Given the description of an element on the screen output the (x, y) to click on. 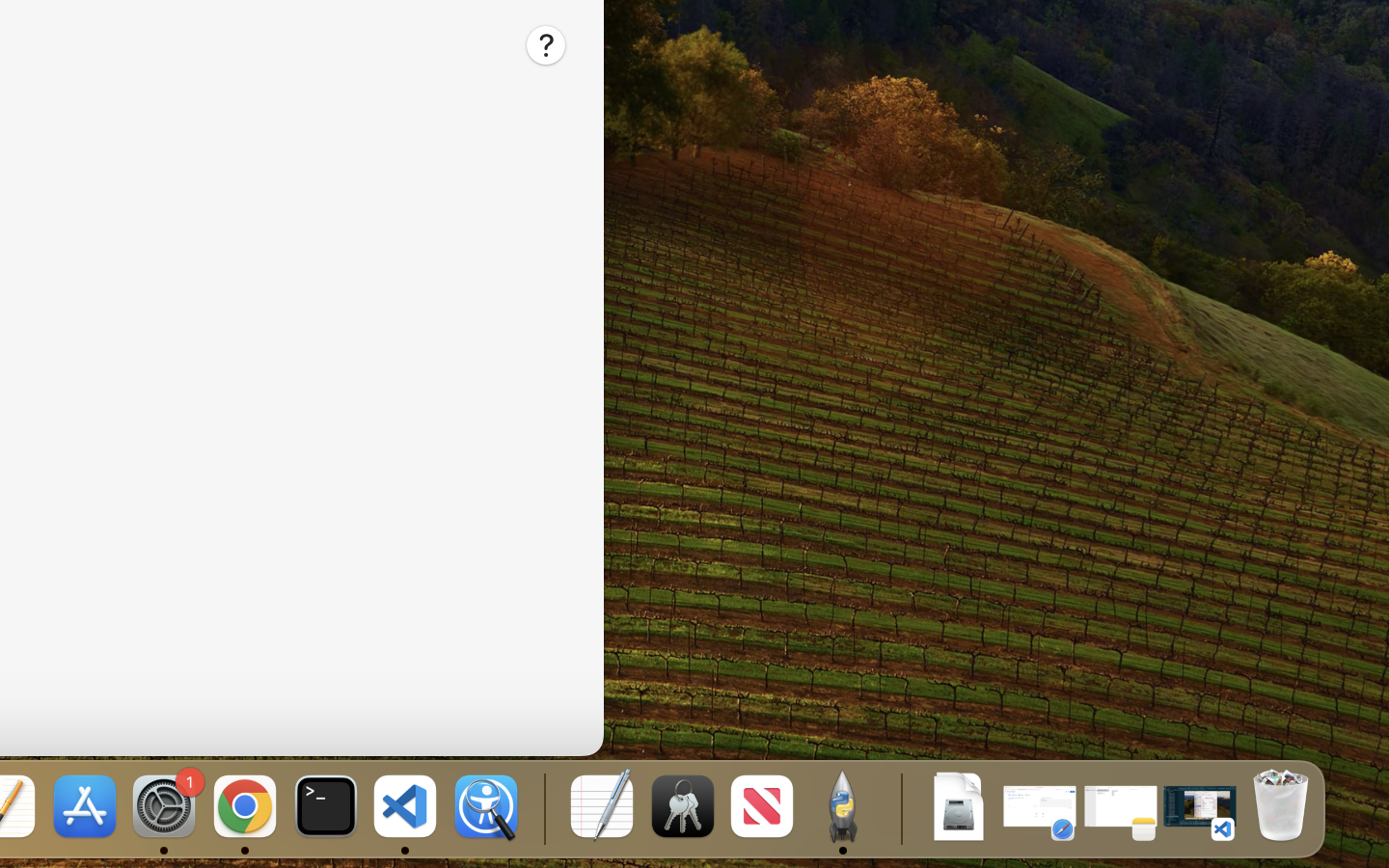
0.4285714328289032 Element type: AXDockItem (541, 807)
